Given the description of an element on the screen output the (x, y) to click on. 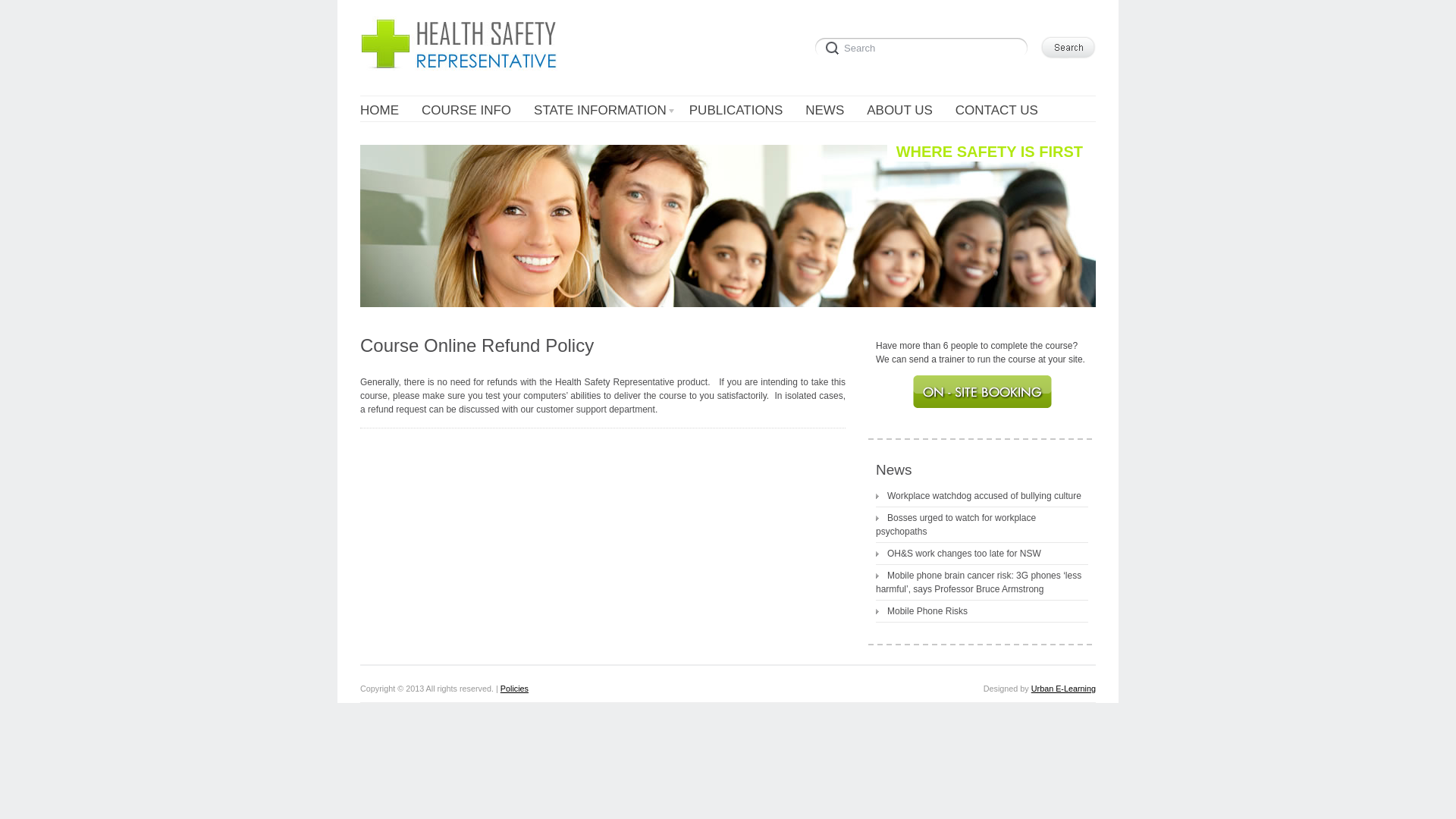
Urban E-Learning Element type: text (1063, 688)
Policies Element type: text (514, 688)
HOME Element type: text (379, 110)
OH&S work changes too late for NSW Element type: text (958, 553)
search Element type: hover (924, 45)
COURSE INFO Element type: text (466, 110)
Search Element type: hover (1067, 47)
Mobile Phone Risks Element type: text (921, 610)
CONTACT US Element type: text (996, 110)
NEWS Element type: text (824, 110)
Workplace watchdog accused of bullying culture Element type: text (978, 495)
Bosses urged to watch for workplace psychopaths Element type: text (955, 524)
Search Element type: text (924, 45)
ABOUT US Element type: text (899, 110)
PUBLICATIONS Element type: text (735, 110)
